Given the description of an element on the screen output the (x, y) to click on. 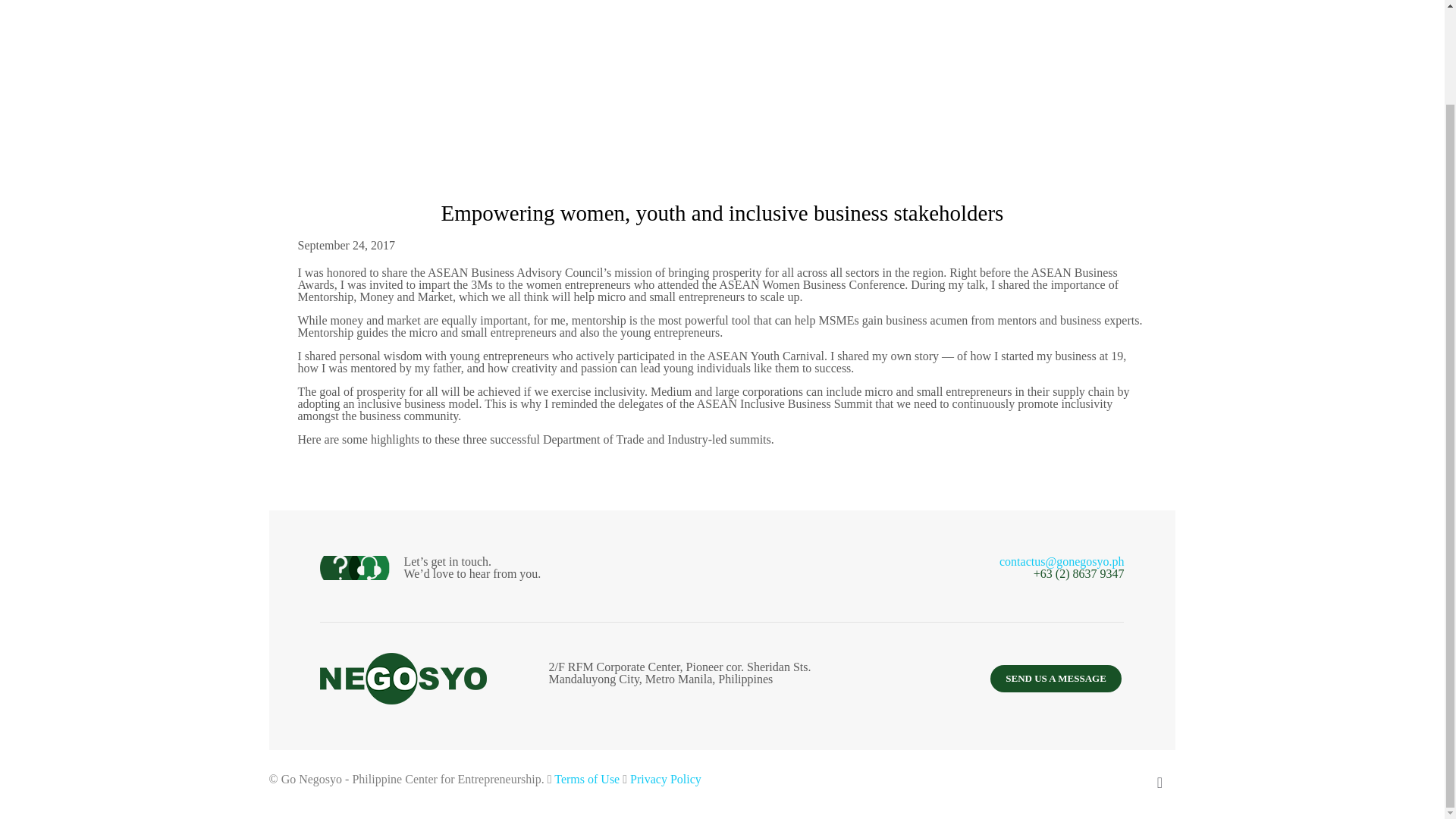
Privacy Policy (665, 779)
Terms of Use (587, 779)
SEND US A MESSAGE (1055, 678)
